Given the description of an element on the screen output the (x, y) to click on. 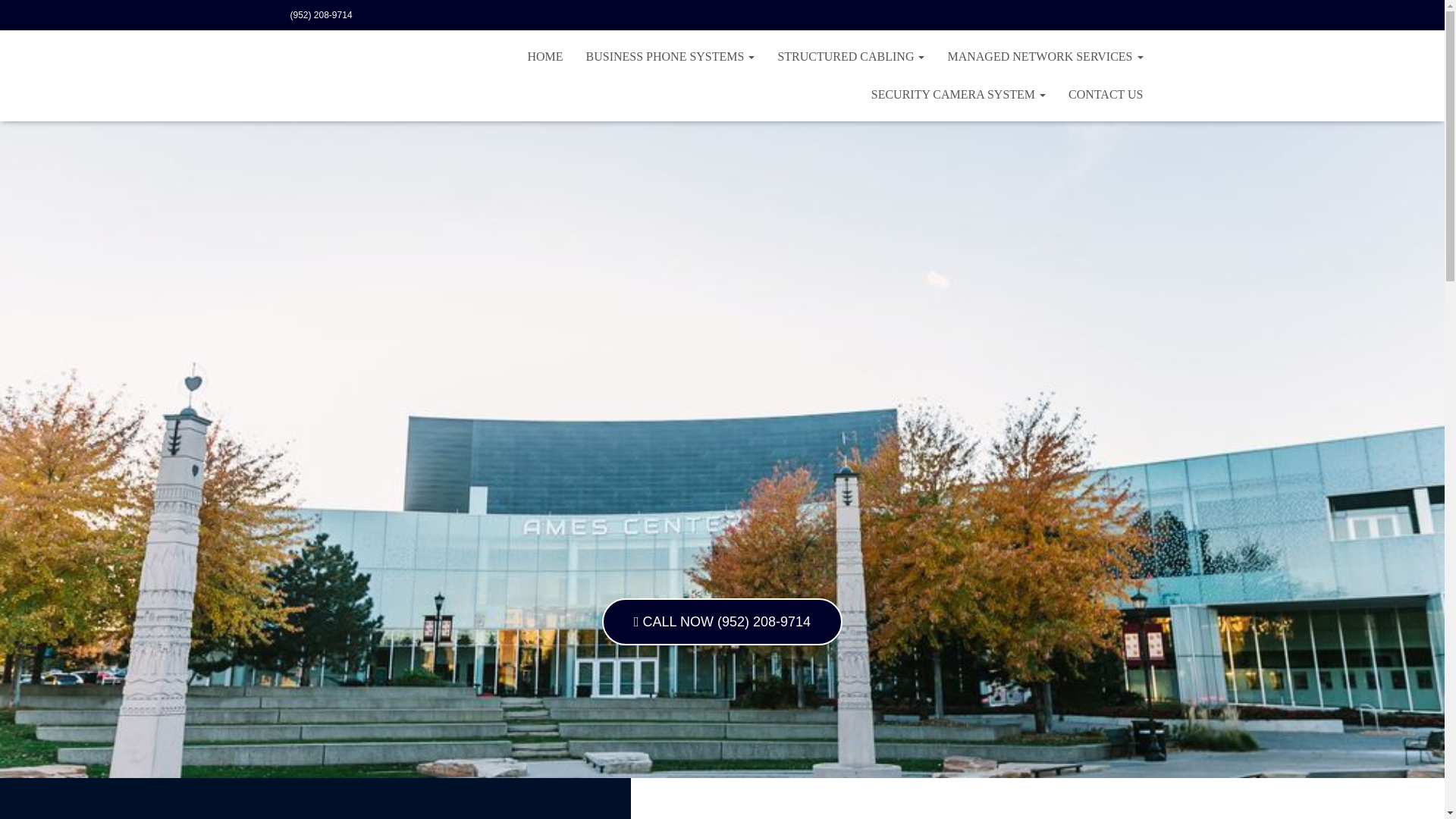
CONTACT US (1105, 94)
BUSINESS PHONE SYSTEMS (671, 56)
BUSINESS PHONE SYSTEMS (671, 56)
Home (544, 56)
SECURITY CAMERA SYSTEM (958, 94)
HOME (544, 56)
STRUCTURED CABLING (850, 56)
MANAGED NETWORK SERVICES (1045, 56)
